Given the description of an element on the screen output the (x, y) to click on. 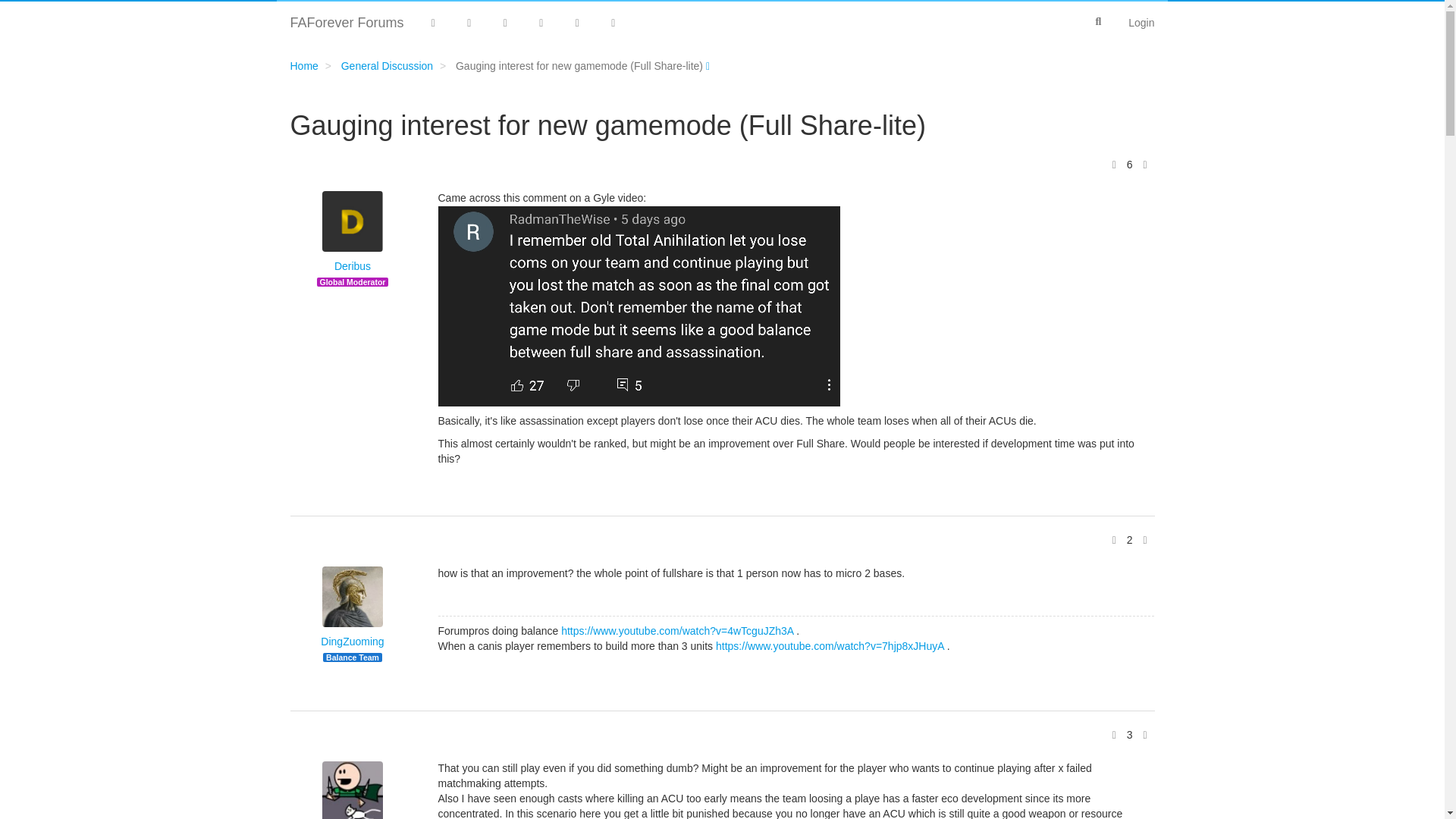
General Discussion (386, 65)
Balance Team (352, 657)
Deribus (352, 266)
Global Moderator (352, 281)
Search (1098, 21)
Login (1141, 22)
Home (303, 65)
DingZuoming (352, 642)
